Given the description of an element on the screen output the (x, y) to click on. 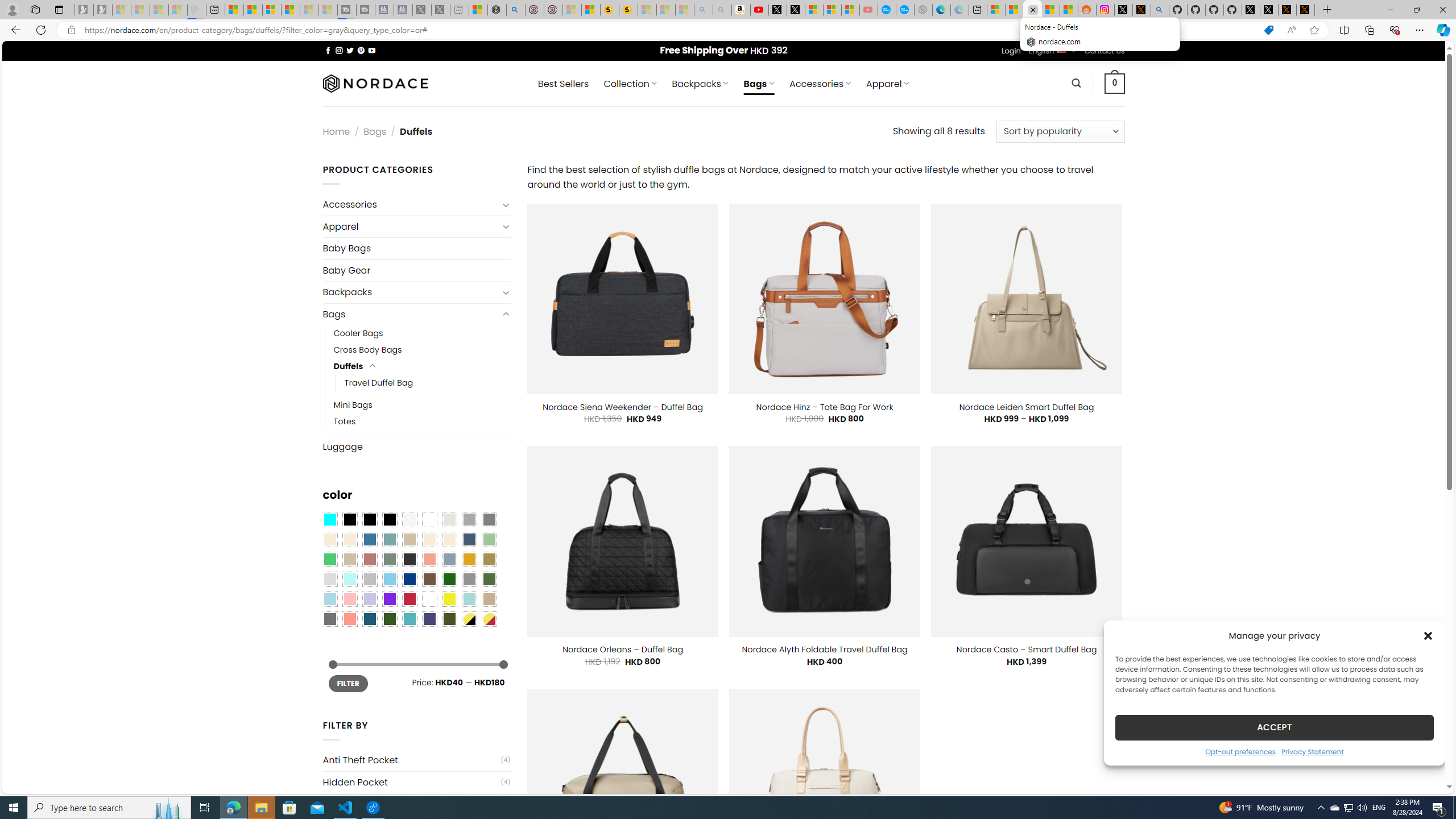
Profile / X (1251, 9)
Bags (410, 314)
Nordace Alyth Foldable Travel Duffel Bag (824, 649)
Brownie (408, 539)
X Privacy Policy (1305, 9)
Navy Blue (408, 579)
Pearly White (408, 519)
 Best Sellers (563, 83)
